Given the description of an element on the screen output the (x, y) to click on. 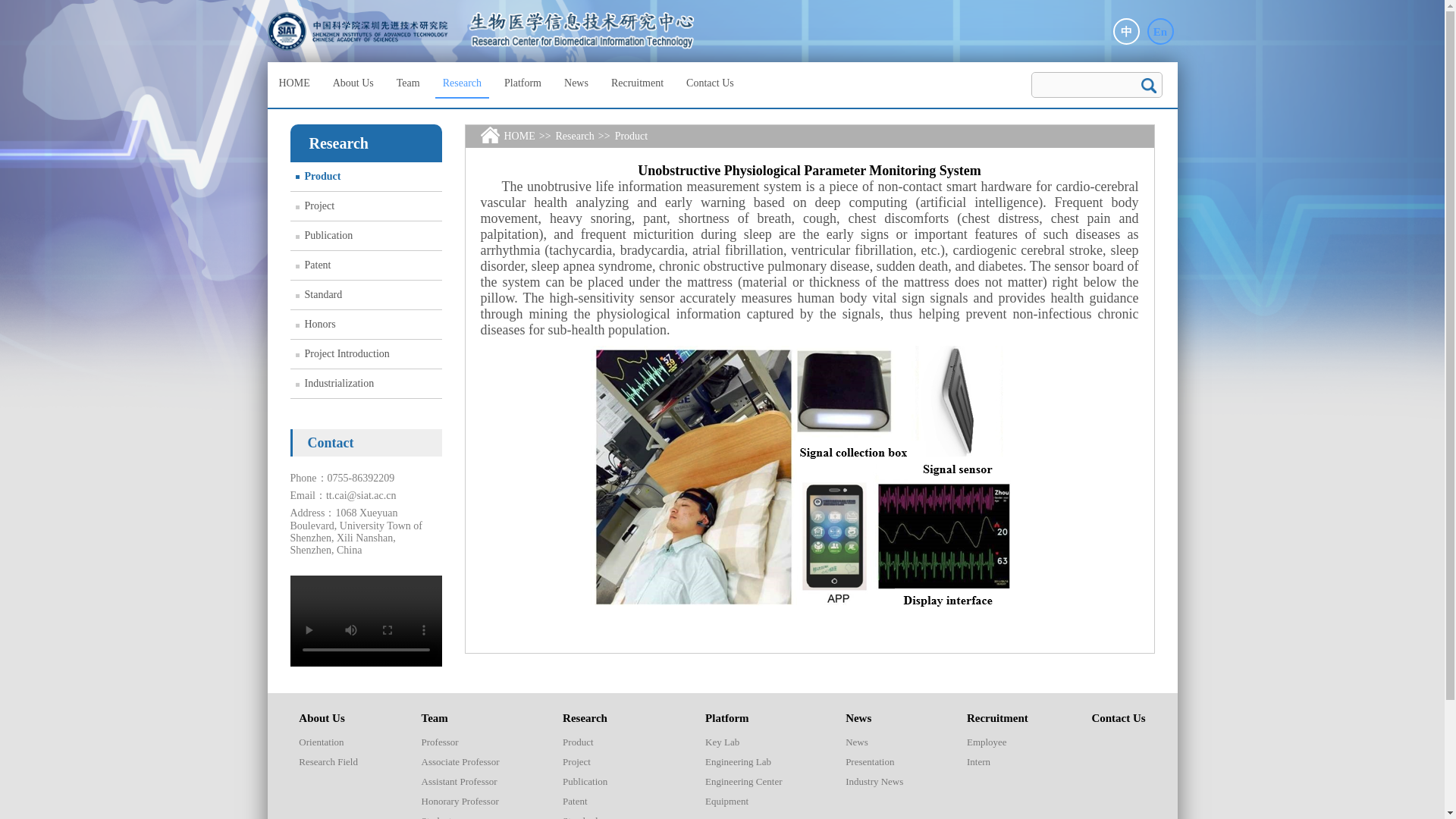
News (575, 83)
Project (365, 205)
Patent (365, 265)
HOME (293, 83)
About Us (352, 83)
En (1160, 31)
5a28fc6cbdb15.png (808, 481)
Platform (522, 83)
Publication (365, 235)
Product (365, 176)
Recruitment (637, 83)
Contact Us (709, 83)
Standard (365, 294)
Team (408, 83)
Research (462, 83)
